Given the description of an element on the screen output the (x, y) to click on. 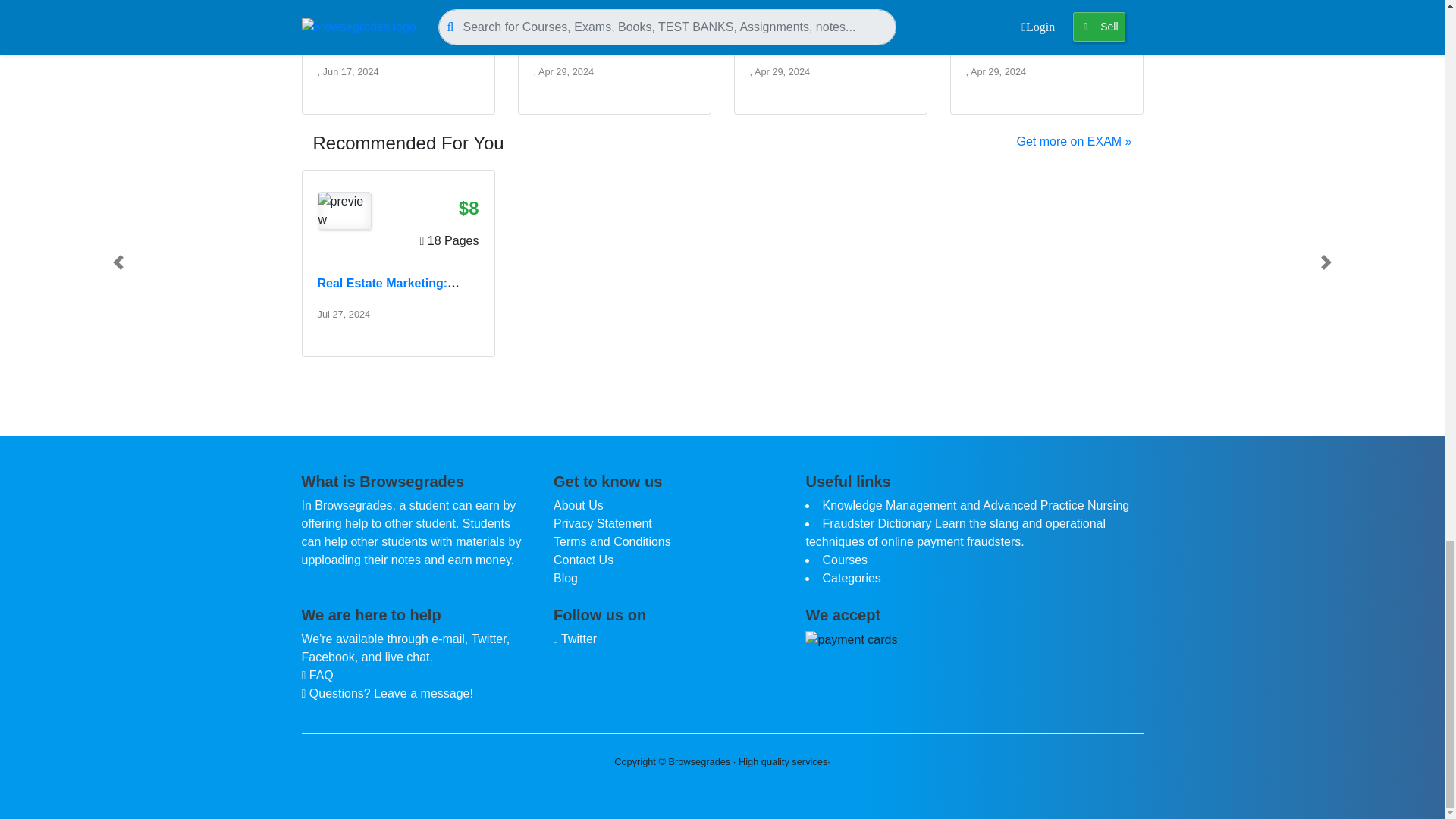
LETRS UNIT 2 Questions and Answers. (614, 40)
